Given the description of an element on the screen output the (x, y) to click on. 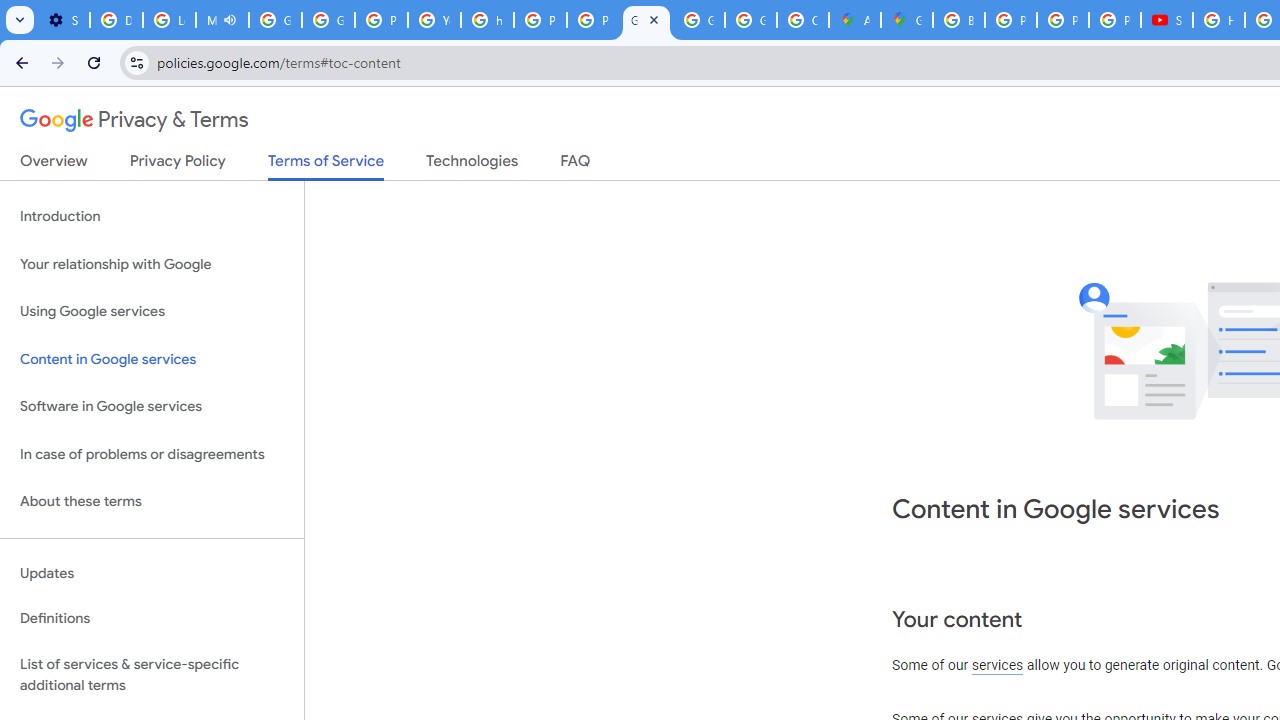
Content in Google services (152, 358)
Privacy Help Center - Policies Help (1010, 20)
Your relationship with Google (152, 263)
Blogger Policies and Guidelines - Transparency Center (959, 20)
Software in Google services (152, 407)
YouTube (434, 20)
Learn how to find your photos - Google Photos Help (169, 20)
Subscriptions - YouTube (1166, 20)
Definitions (152, 619)
